Given the description of an element on the screen output the (x, y) to click on. 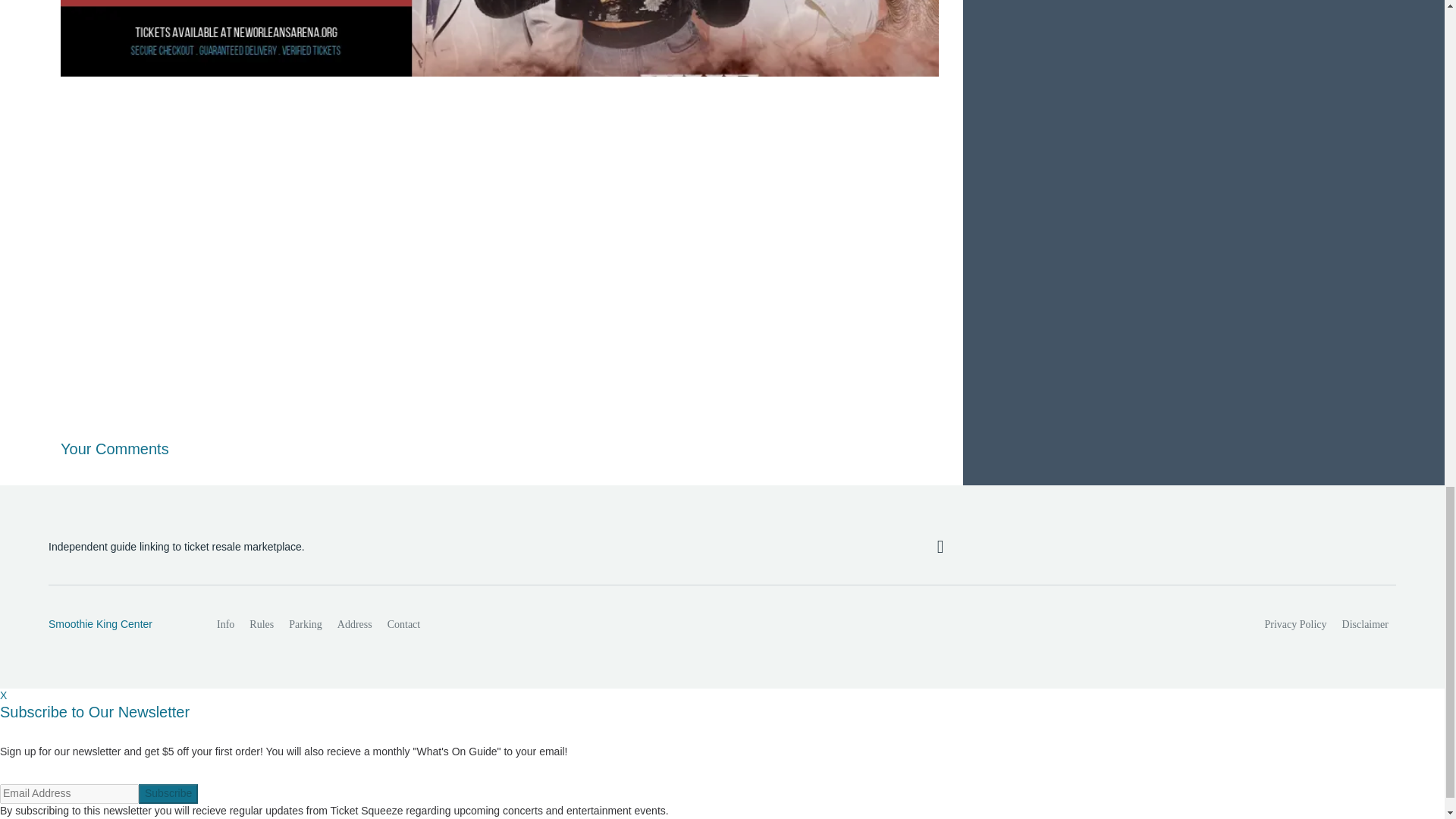
Privacy Policy (1296, 624)
Smoothie King Center (116, 624)
Disclaimer (1365, 624)
Parking (305, 624)
Subscribe (168, 793)
Info (225, 624)
Rules (261, 624)
Address (355, 624)
Contact (404, 624)
